Given the description of an element on the screen output the (x, y) to click on. 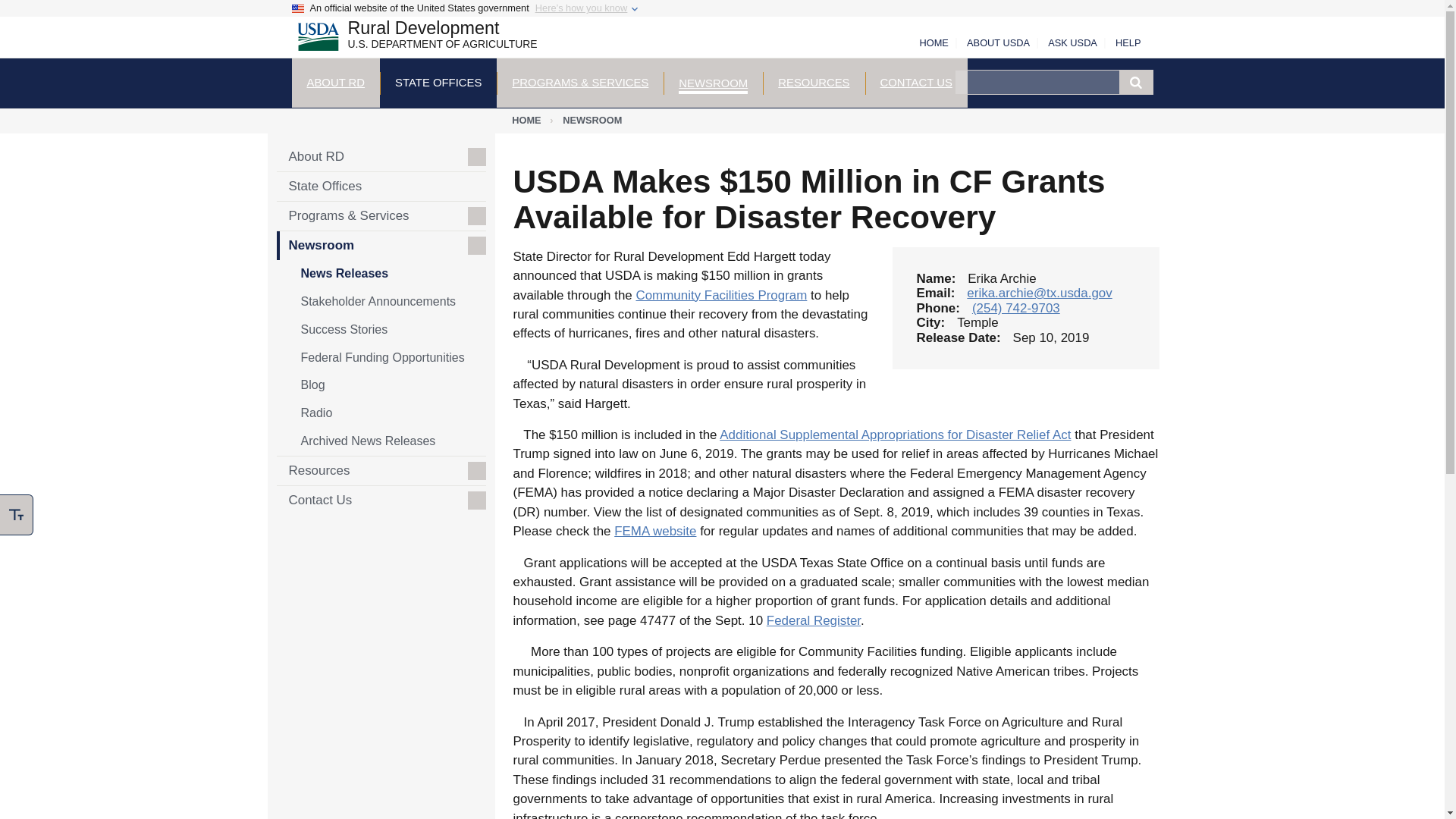
ABOUT RD (335, 82)
Home (410, 38)
About RD (410, 38)
